Given the description of an element on the screen output the (x, y) to click on. 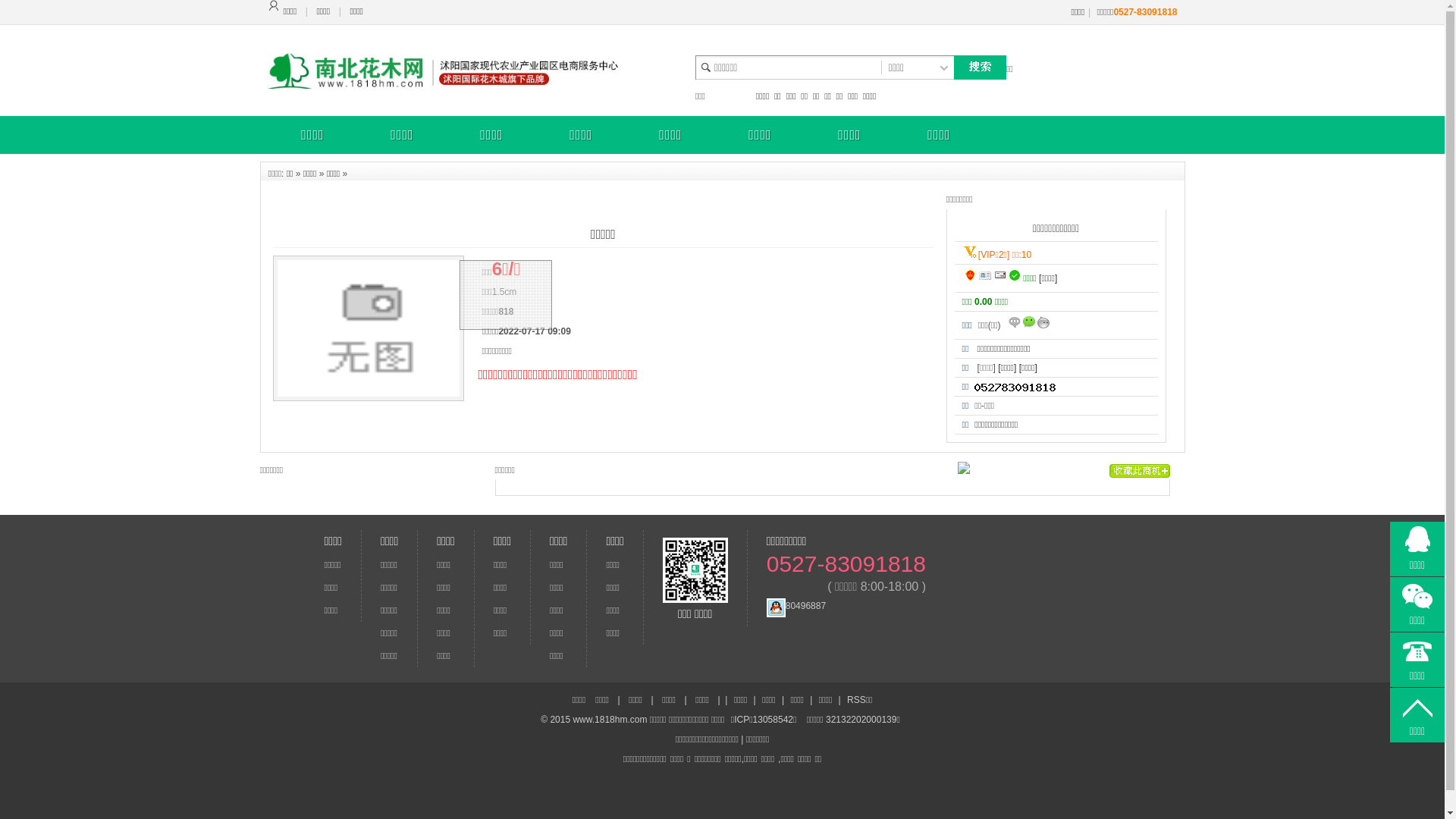
  Element type: text (979, 68)
80496887 Element type: text (795, 605)
